Given the description of an element on the screen output the (x, y) to click on. 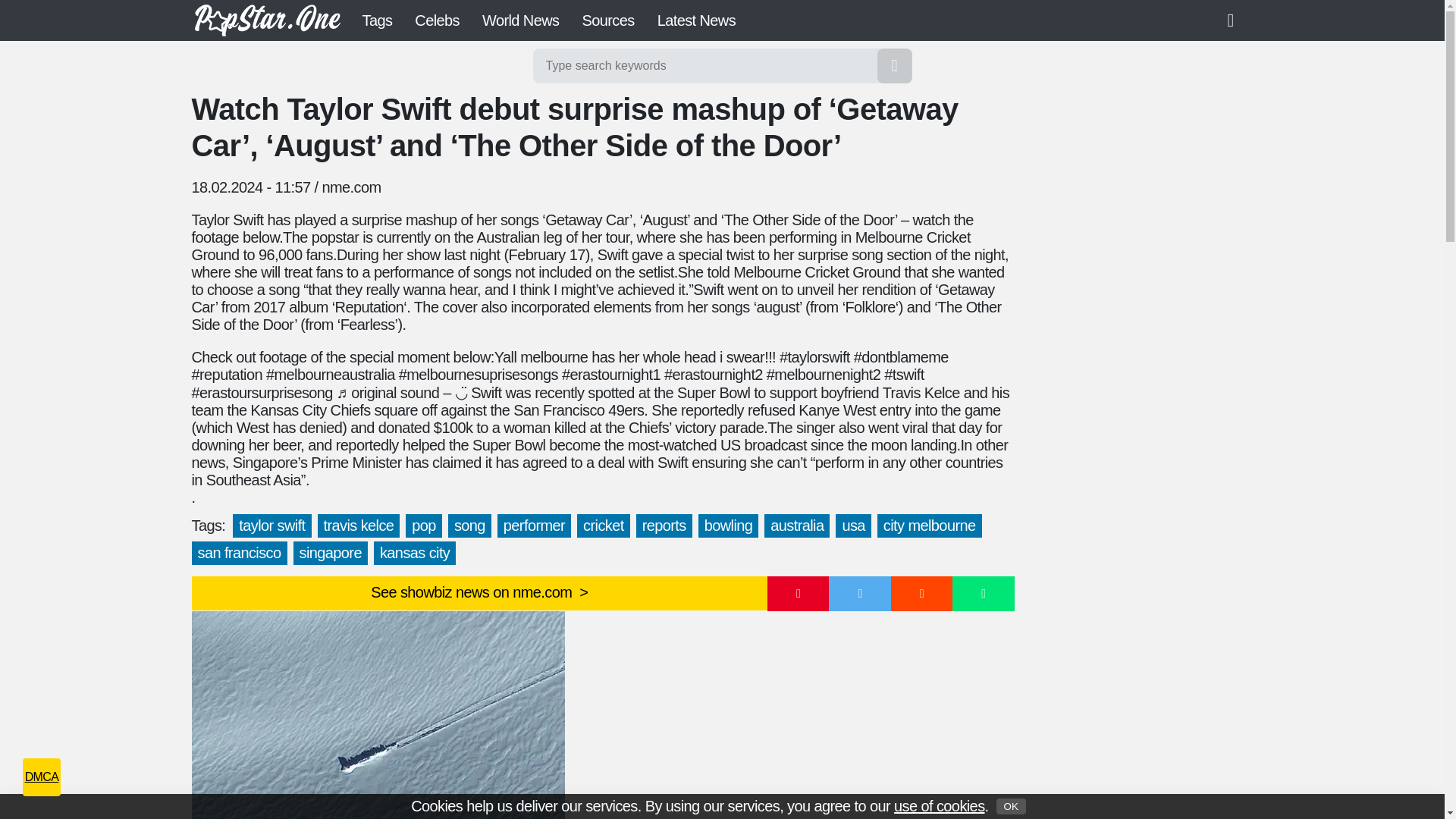
travis kelce (358, 525)
World News (520, 20)
Sources (607, 20)
usa (852, 525)
Sources (607, 20)
Latest News (696, 20)
Latest News (696, 20)
Tags (376, 20)
Celebs (436, 20)
taylor swift (271, 525)
pop (424, 525)
Tags (376, 20)
Celebrity news and gossips popstar.one (266, 20)
cricket (603, 525)
DARK MODE (1235, 20)
